Given the description of an element on the screen output the (x, y) to click on. 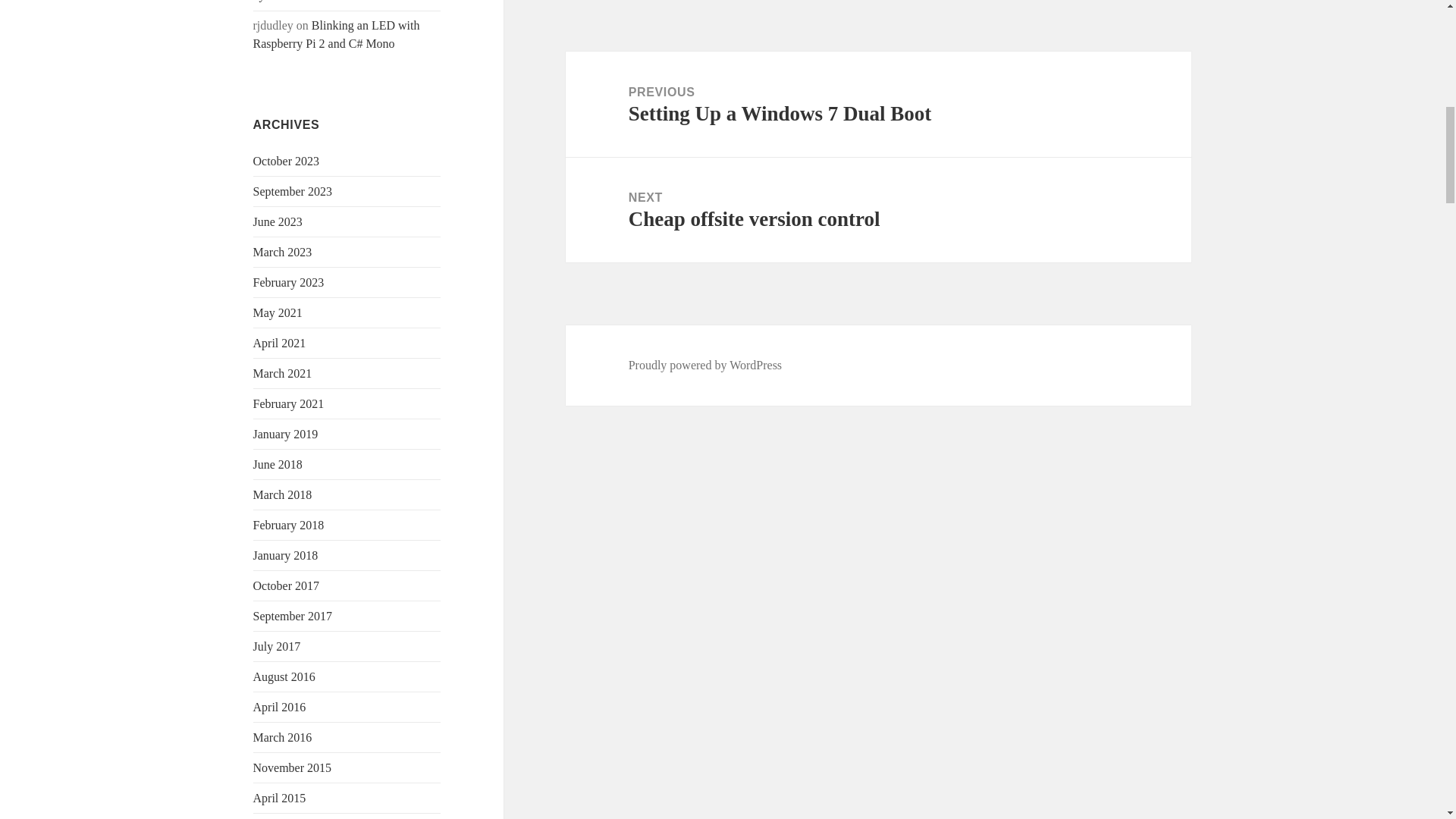
May 2021 (277, 312)
March 2016 (283, 737)
March 2021 (283, 373)
February 2023 (288, 282)
June 2023 (277, 221)
January 2018 (285, 554)
April 2021 (279, 342)
November 2015 (292, 767)
January 2019 (285, 433)
July 2017 (277, 645)
